Given the description of an element on the screen output the (x, y) to click on. 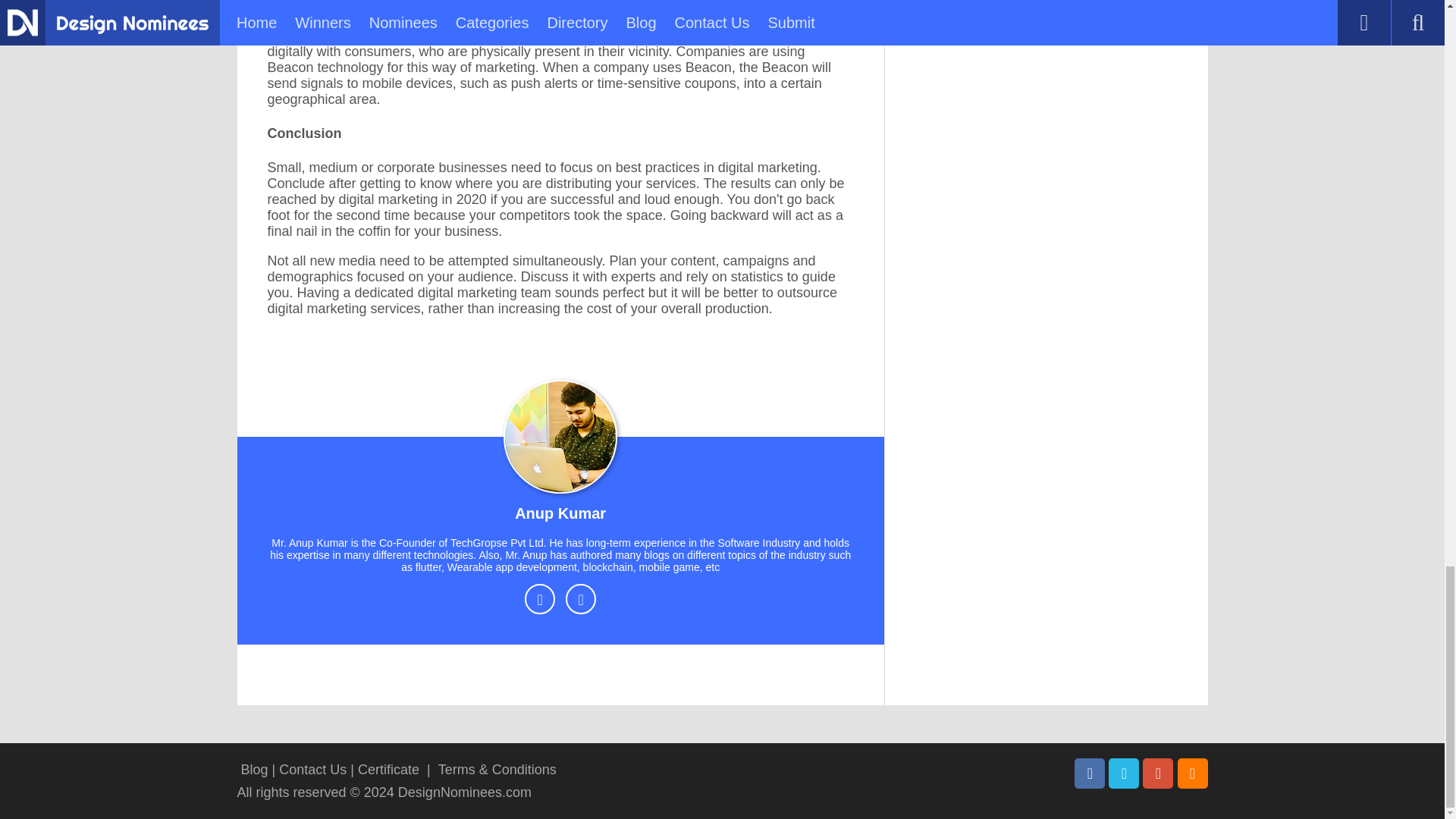
Twitter (1123, 773)
Anup Kumar (560, 515)
Pinterest (1157, 773)
Rss (1191, 773)
linkedin (580, 598)
Facebook (1089, 773)
